Given the description of an element on the screen output the (x, y) to click on. 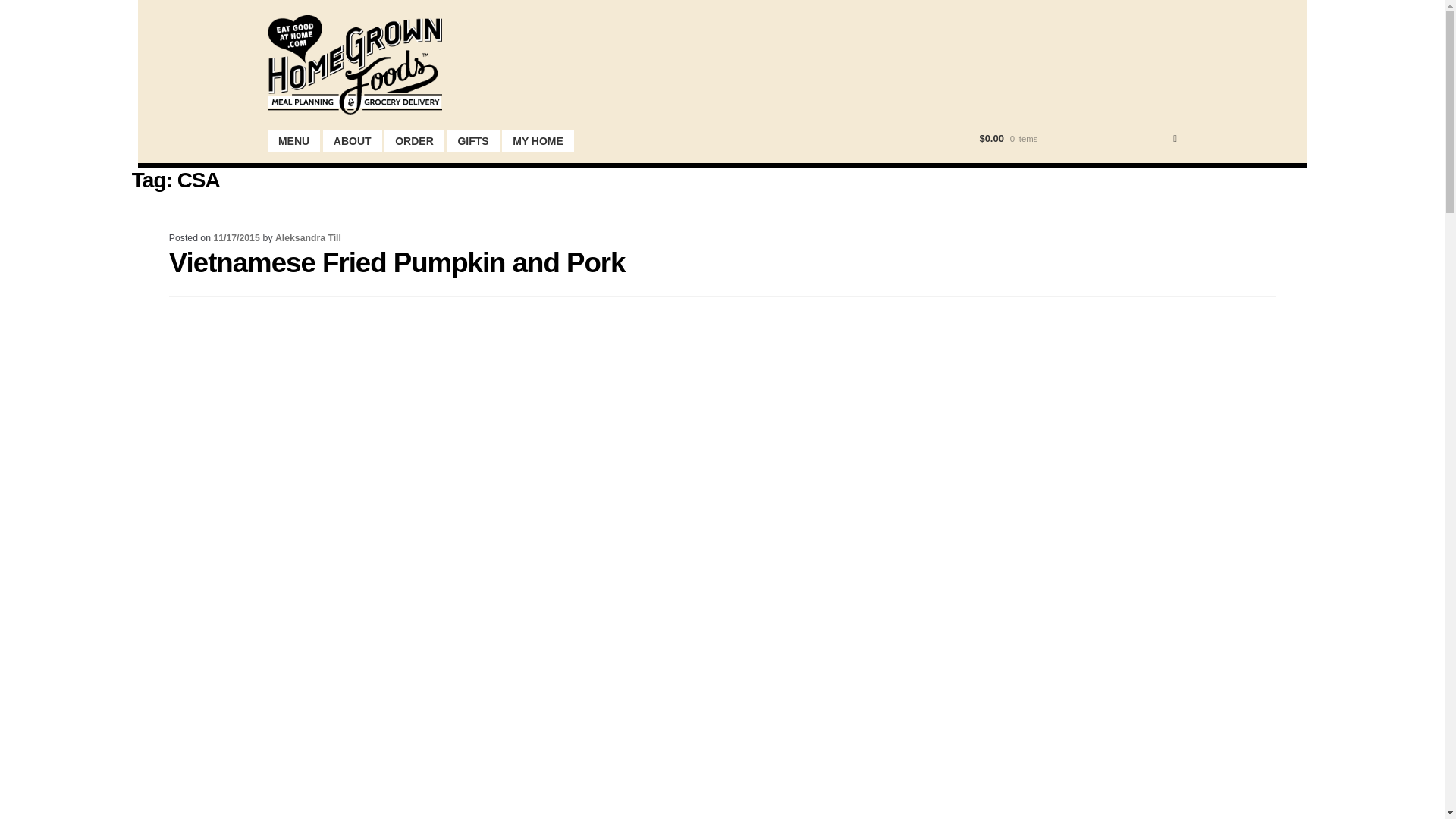
ORDER (414, 141)
MY HOME (537, 141)
MENU (293, 141)
Vietnamese Fried Pumpkin and Pork (397, 262)
ABOUT (352, 141)
Aleksandra Till (307, 237)
View your shopping cart (1077, 138)
GIFTS (472, 141)
